Given the description of an element on the screen output the (x, y) to click on. 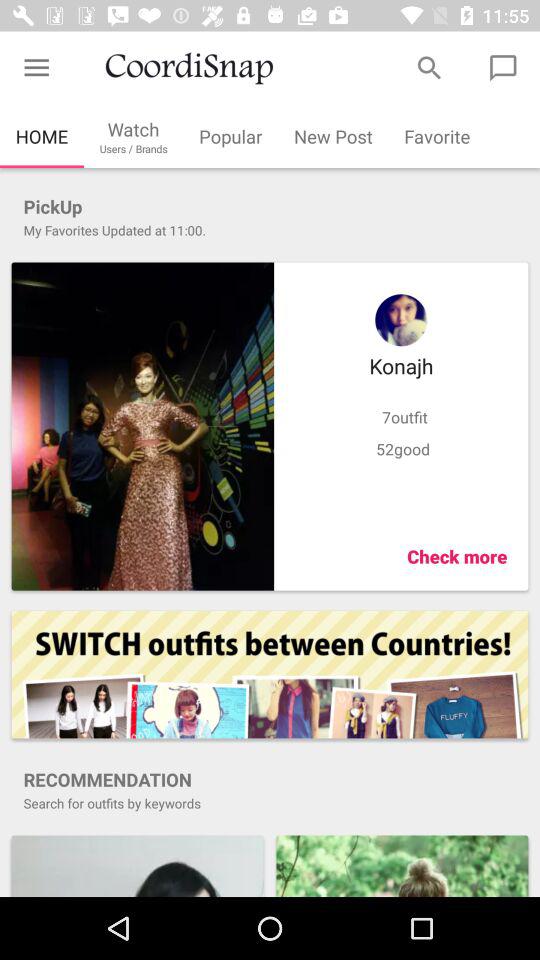
image select option (142, 426)
